Given the description of an element on the screen output the (x, y) to click on. 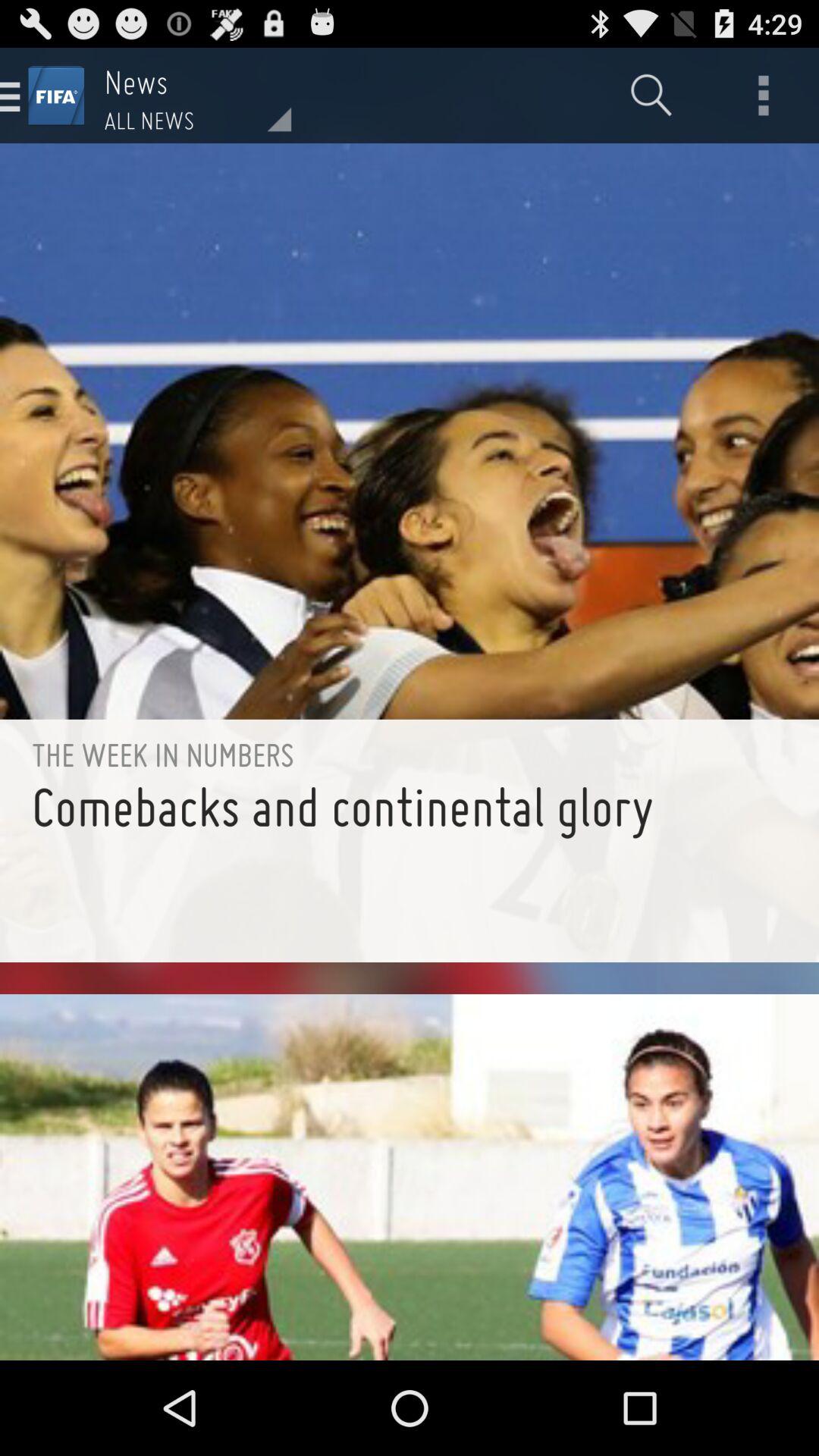
click the the week in item (409, 754)
